Given the description of an element on the screen output the (x, y) to click on. 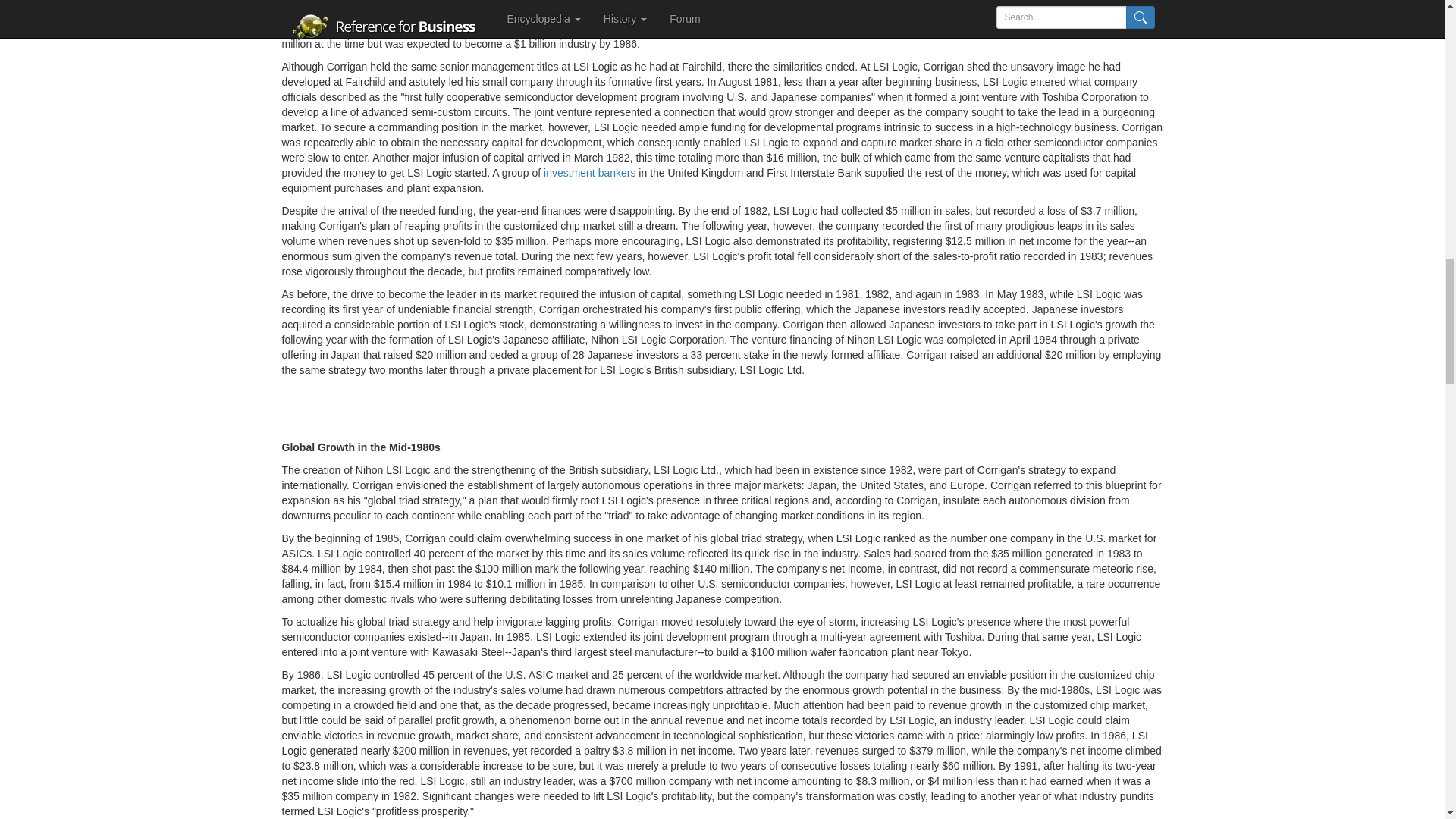
View 'investment bankers' definition from Wikipedia (588, 173)
capitalists (705, 2)
investment bankers (588, 173)
View 'capitalists' definition from Wikipedia (705, 2)
